Given the description of an element on the screen output the (x, y) to click on. 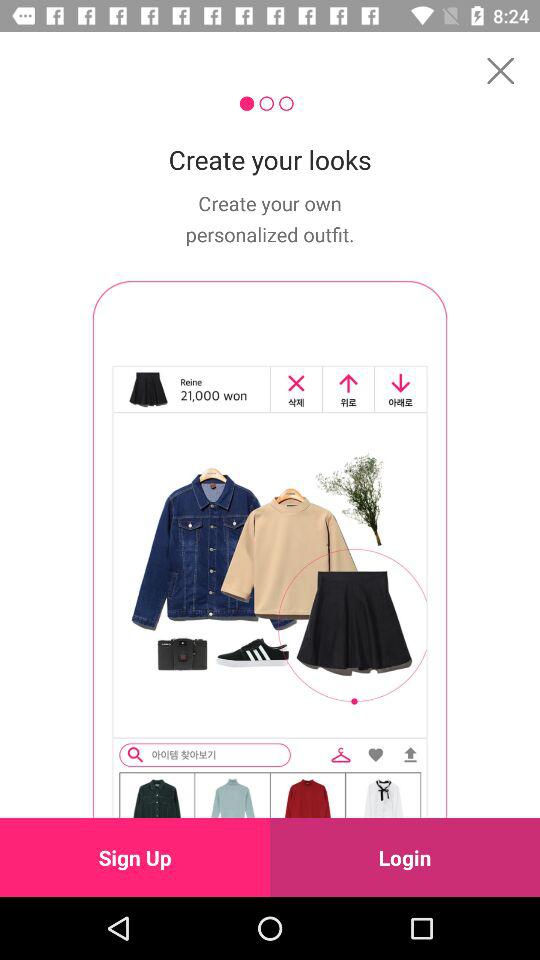
flip until sign up icon (135, 857)
